Given the description of an element on the screen output the (x, y) to click on. 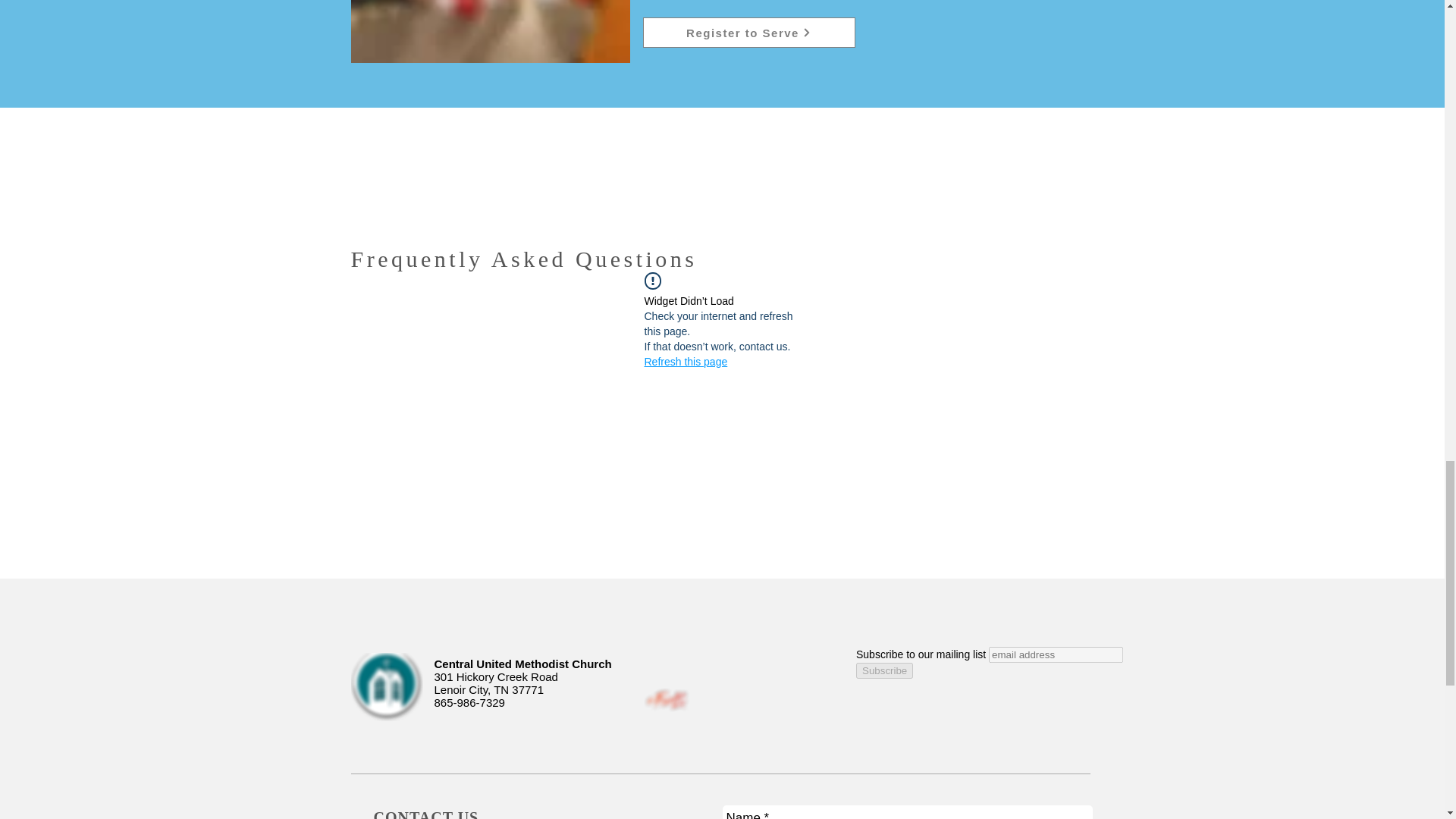
Embedded Content (1050, 700)
